Given the description of an element on the screen output the (x, y) to click on. 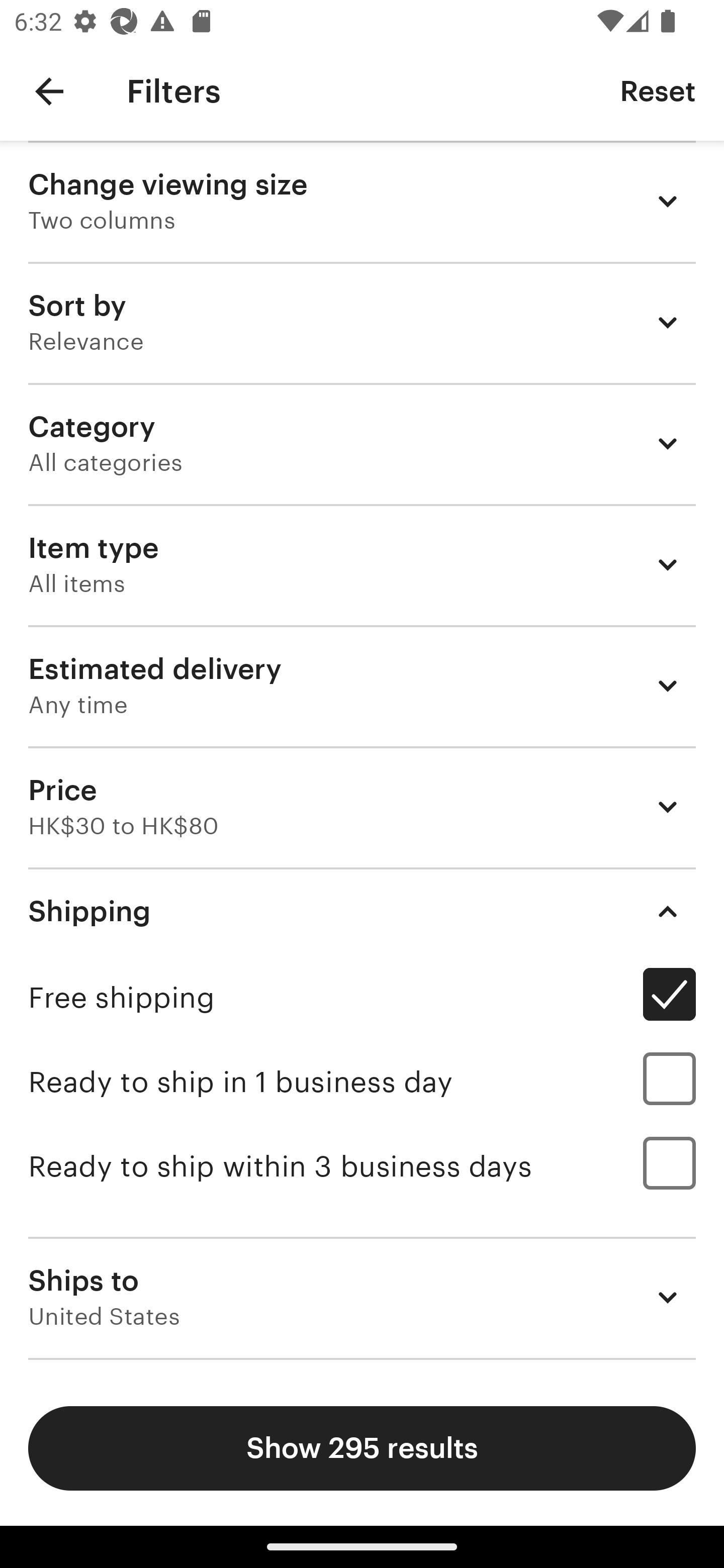
Navigate up (49, 91)
Reset (657, 90)
Change viewing size Two columns (362, 201)
Sort by Relevance (362, 321)
Category All categories (362, 442)
Item type All items (362, 564)
Estimated delivery Any time (362, 685)
Price HK$30 to HK$80 (362, 806)
Shipping (362, 910)
Free shipping (362, 996)
Ready to ship in 1 business day (362, 1081)
Ready to ship within 3 business days (362, 1166)
Ships to United States (362, 1297)
Show 295 results Show 4,025 results (361, 1448)
